Given the description of an element on the screen output the (x, y) to click on. 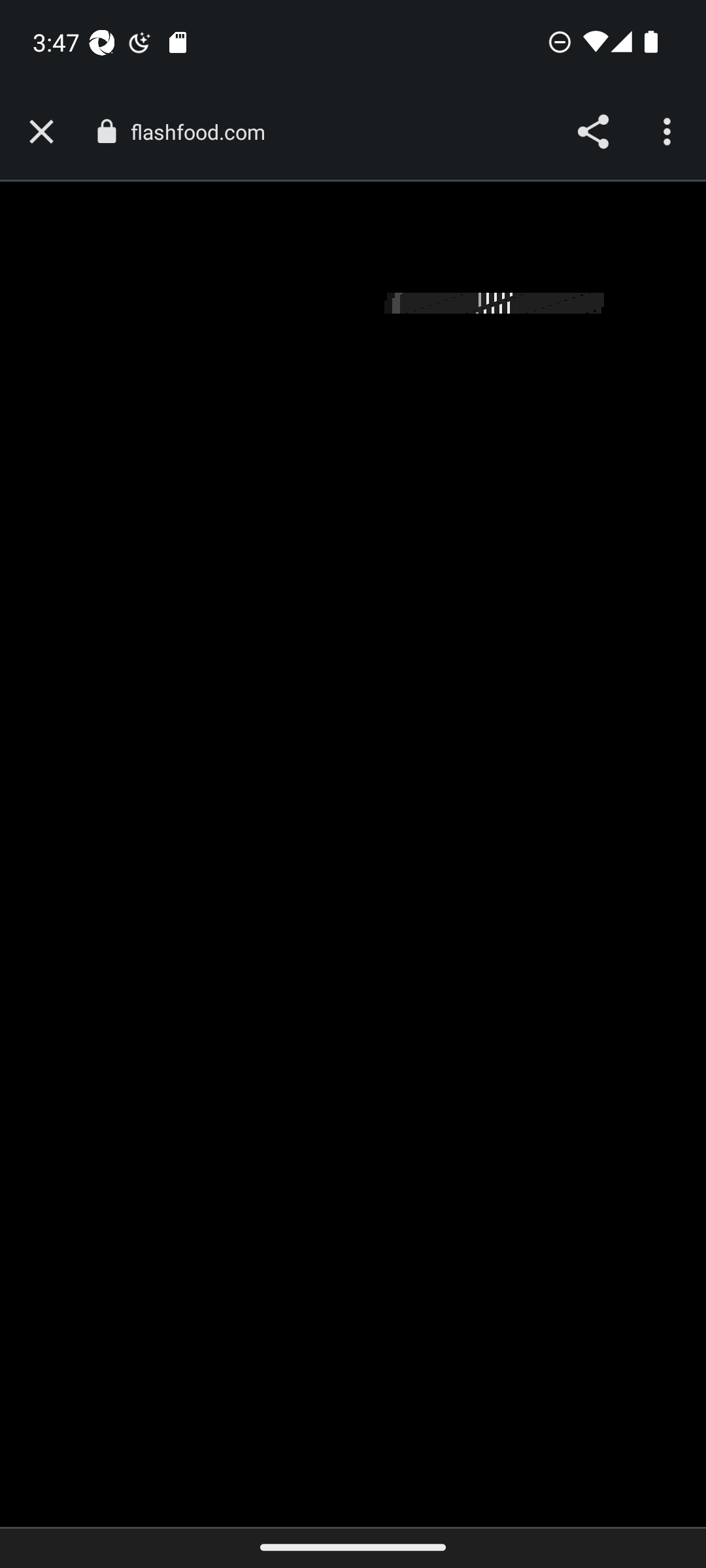
Close tab (41, 131)
Share (592, 131)
More options (669, 131)
Connection is secure (106, 131)
flashfood.com (204, 131)
